Given the description of an element on the screen output the (x, y) to click on. 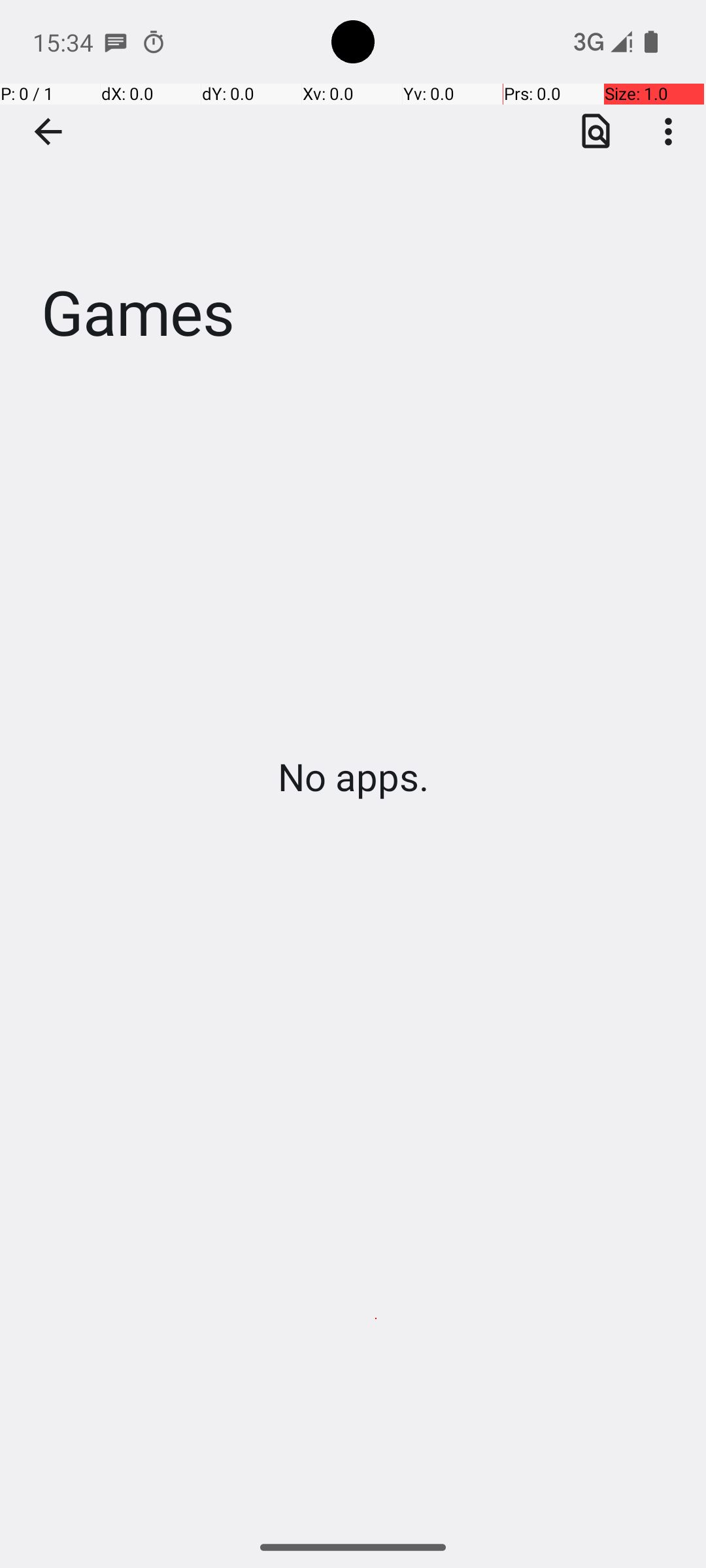
No apps. Element type: android.widget.TextView (353, 776)
